Given the description of an element on the screen output the (x, y) to click on. 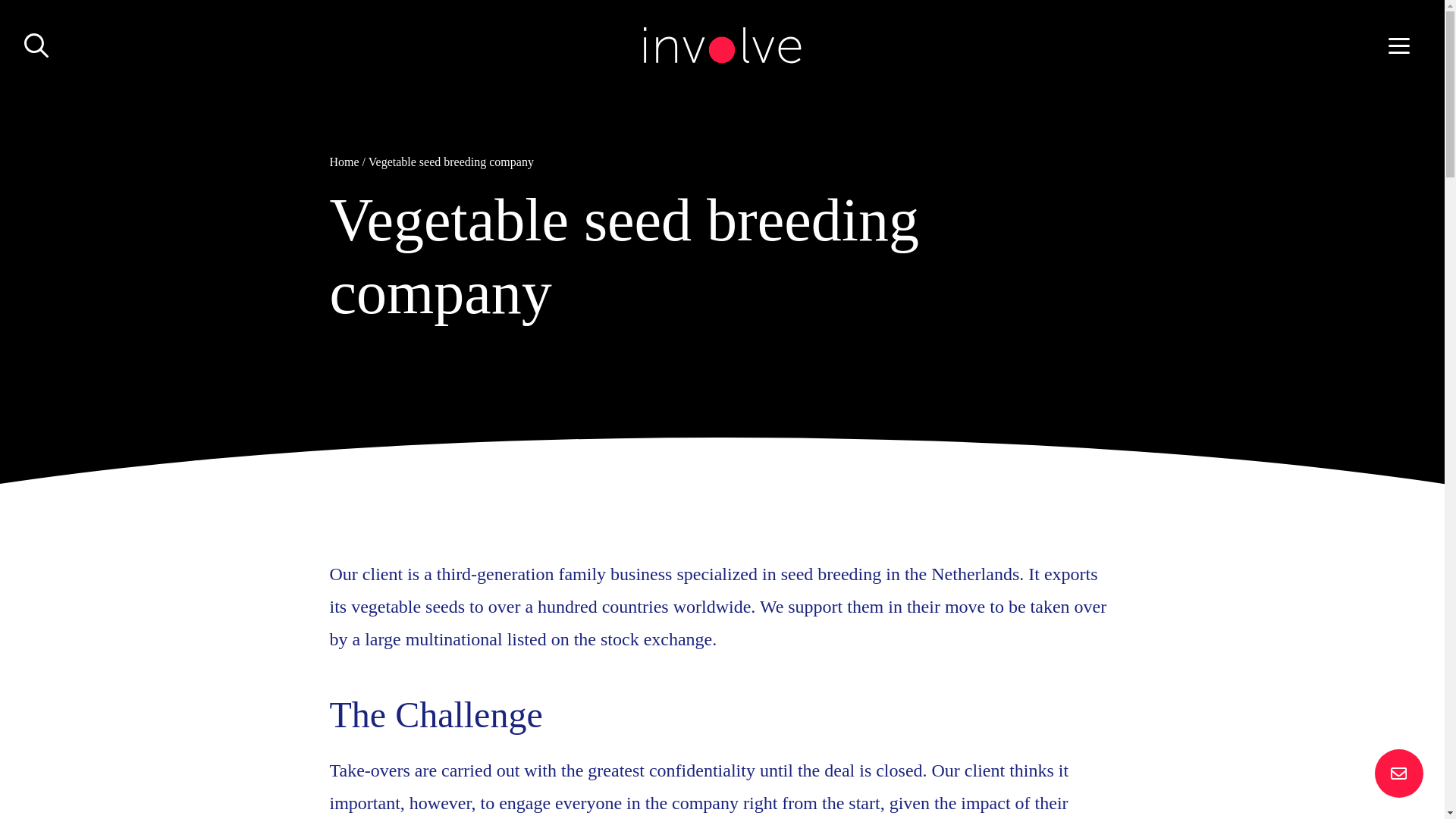
to the content (53, 30)
Home (343, 161)
